Given the description of an element on the screen output the (x, y) to click on. 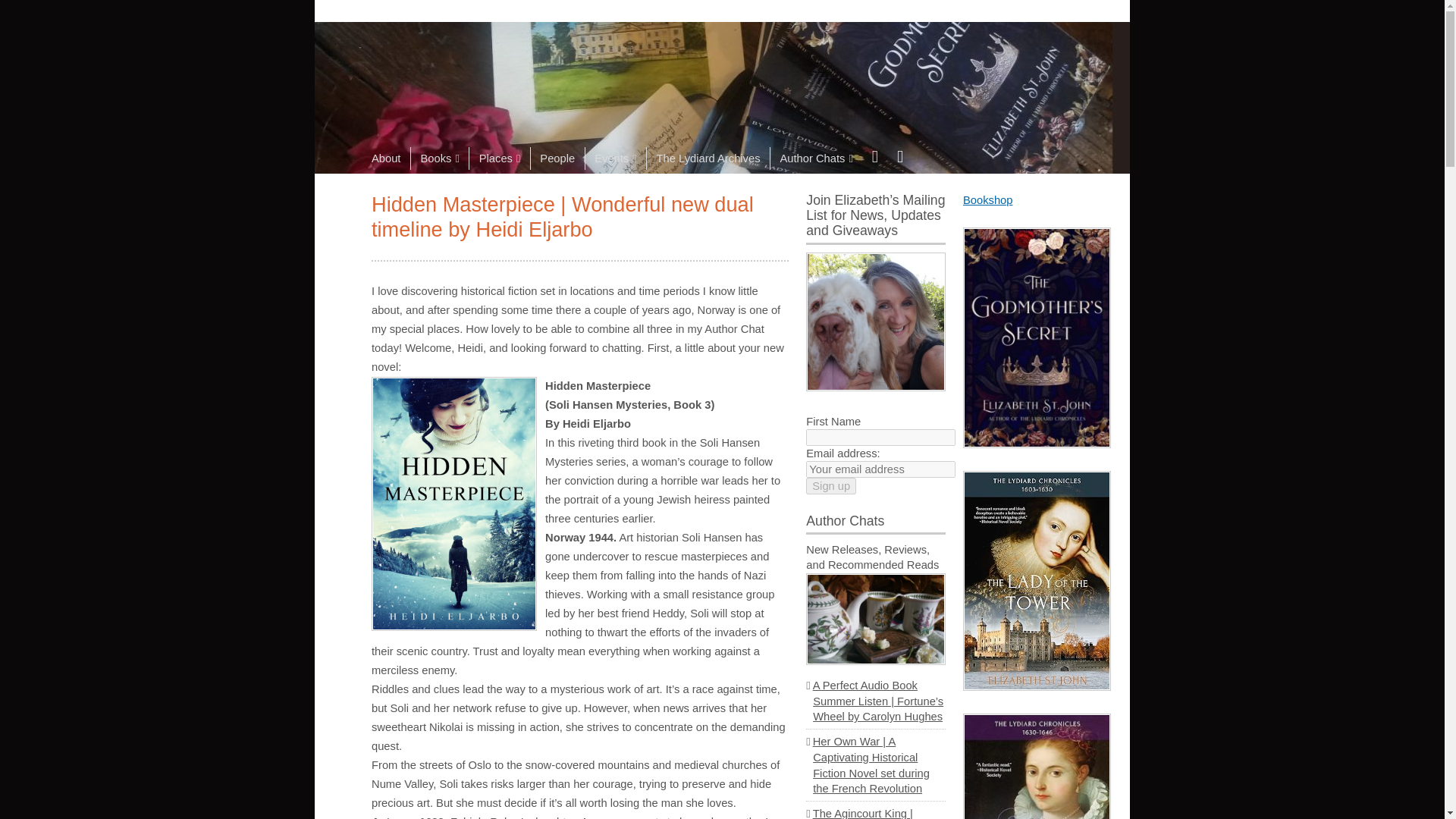
Join me for tittle-tattle and perquisites (875, 320)
People (557, 158)
About (390, 158)
Facebook (873, 156)
Twitter (899, 156)
Elizabeth St.John (472, 34)
Author Chats (815, 158)
Places (498, 158)
Sign up (831, 485)
Books (439, 158)
